Given the description of an element on the screen output the (x, y) to click on. 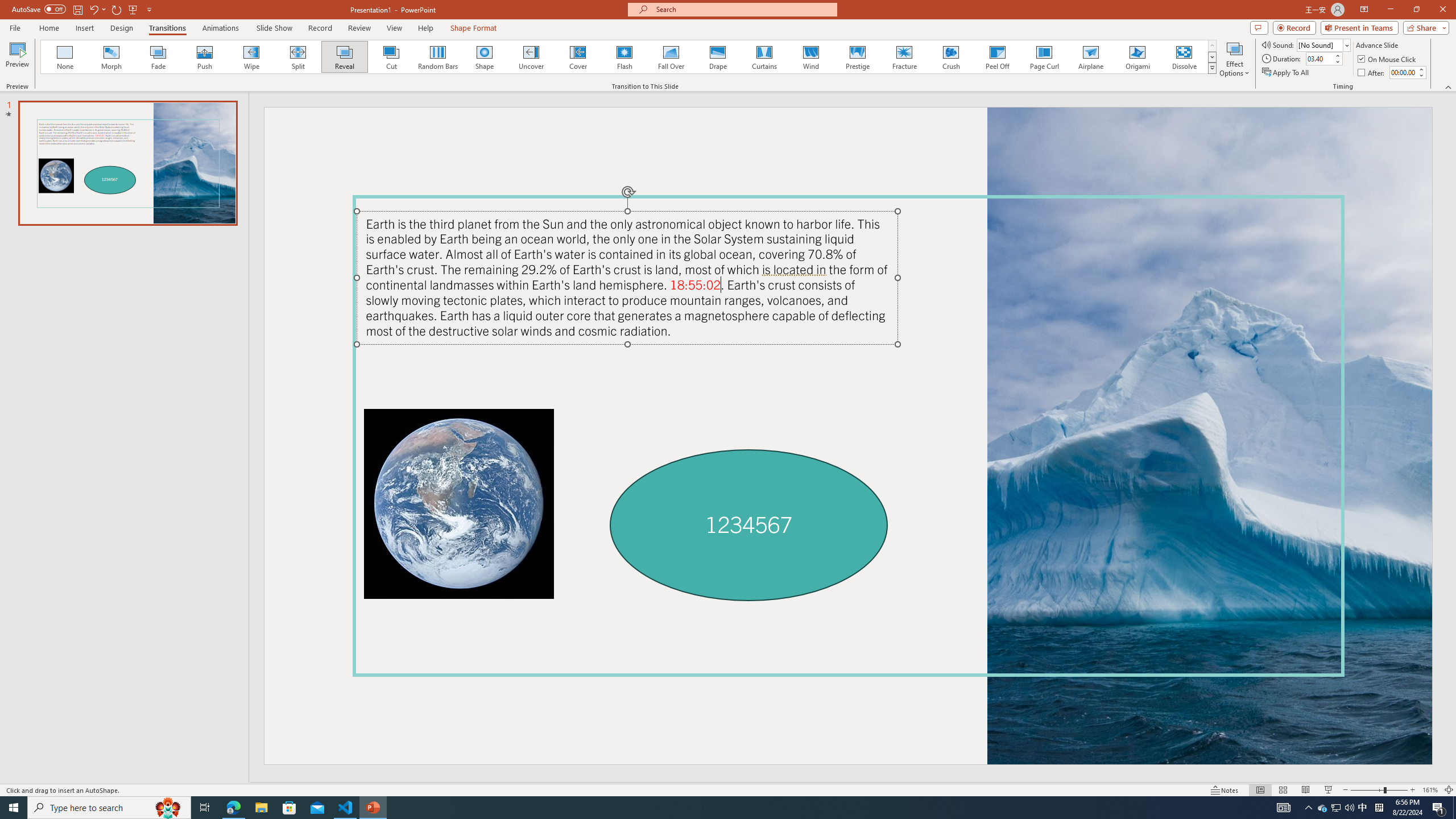
Shape (484, 56)
AutomationID: AnimationTransitionGallery (628, 56)
Drape (717, 56)
Split (298, 56)
Fracture (903, 56)
Flash (624, 56)
Push (205, 56)
